Given the description of an element on the screen output the (x, y) to click on. 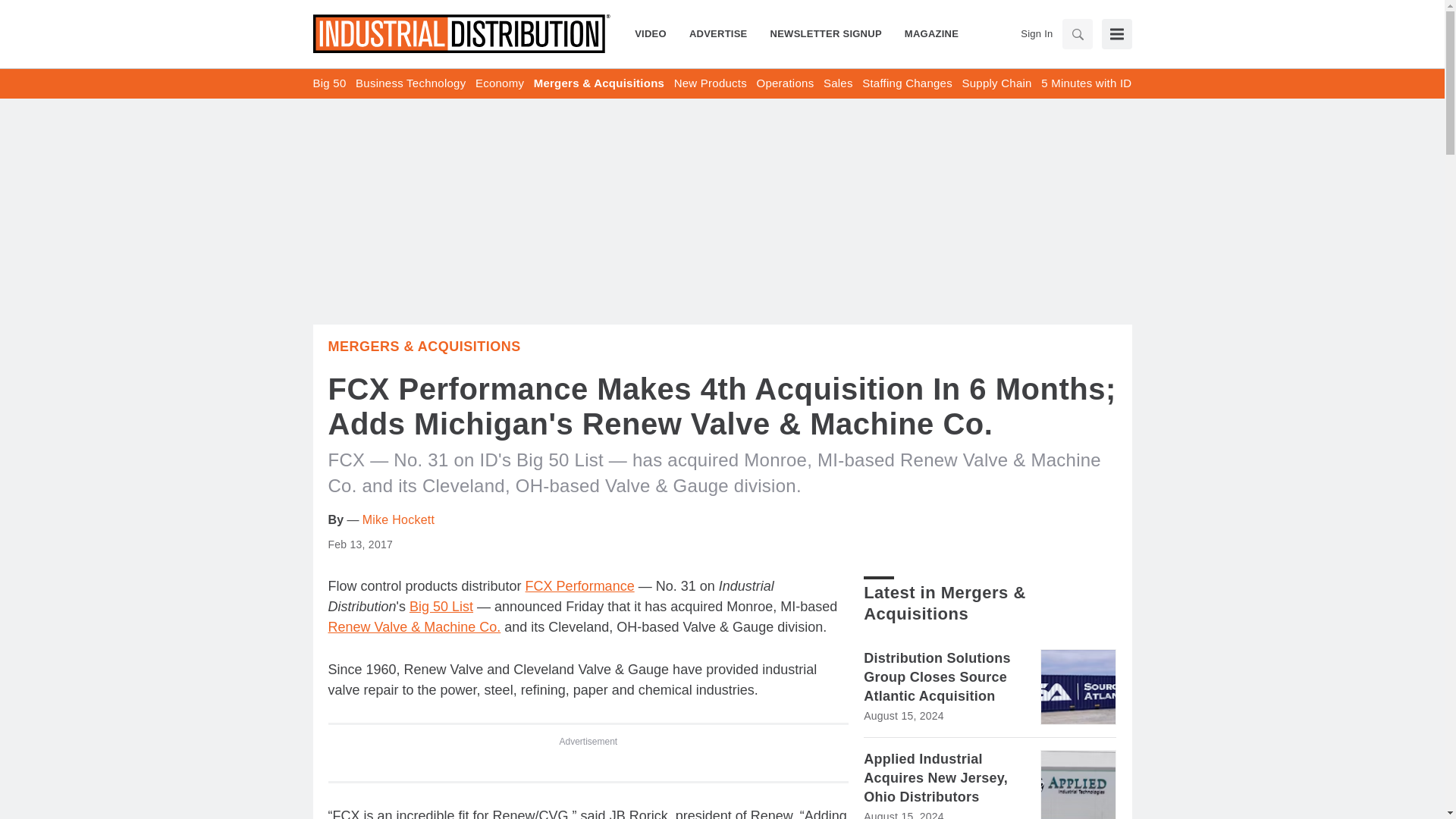
MAGAZINE (925, 33)
Supply Chain (995, 83)
Sales (838, 83)
NEWSLETTER SIGNUP (825, 33)
Big 50 (329, 83)
Sign In (1036, 33)
New Products (710, 83)
VIDEO (656, 33)
5 Minutes with ID (1086, 83)
ADVERTISE (718, 33)
